Given the description of an element on the screen output the (x, y) to click on. 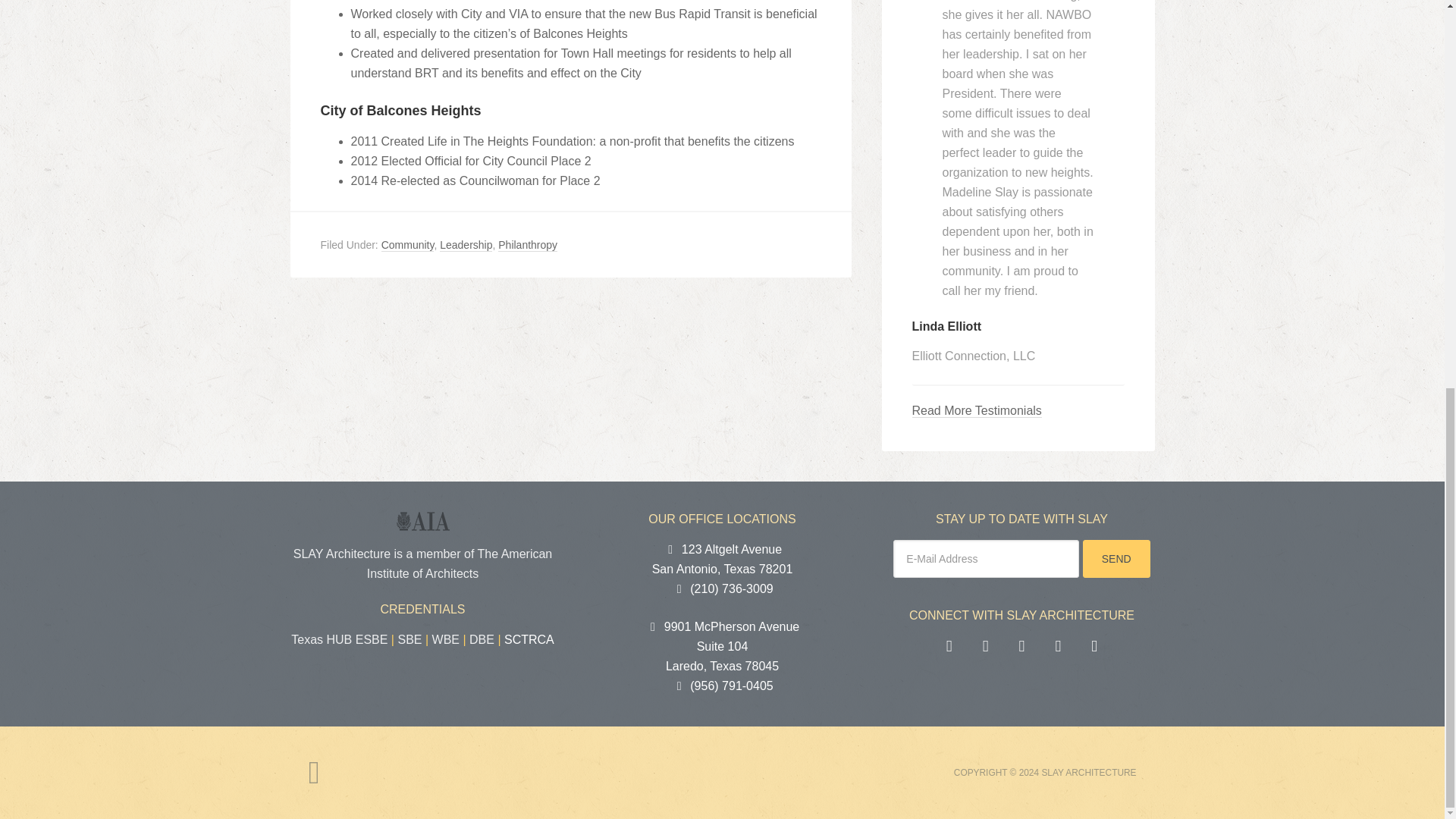
Testimonials (722, 558)
Read More Testimonials (976, 410)
Philanthropy (976, 410)
Community (527, 245)
SCTRCA (407, 245)
Leadership (528, 639)
send (465, 245)
send (722, 645)
